Given the description of an element on the screen output the (x, y) to click on. 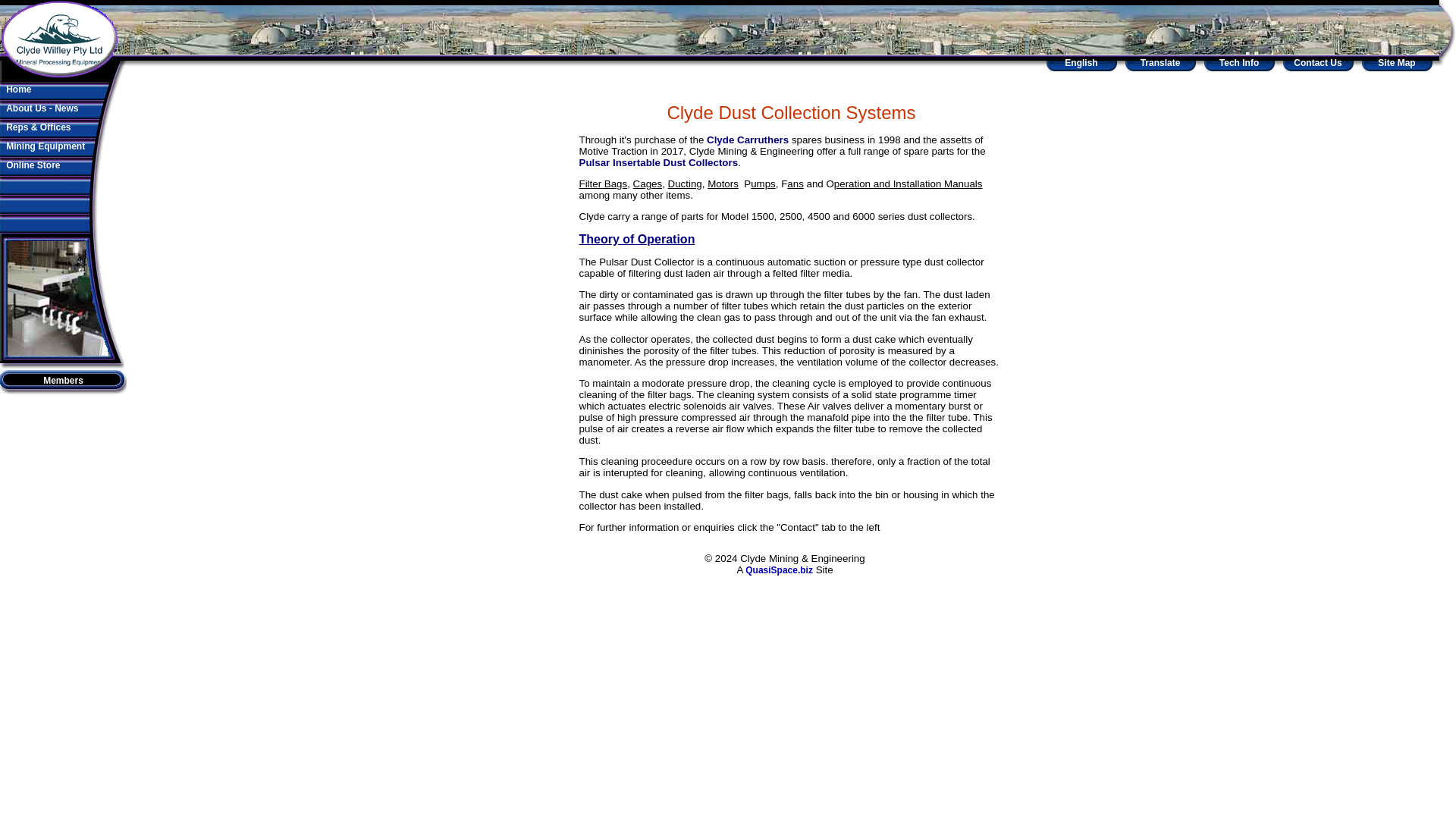
Home (17, 89)
Site Map (1396, 62)
Tech Info (1239, 62)
Members (62, 380)
QuasiSpace.biz (778, 570)
Online Store (32, 164)
Mining Equipment (44, 145)
About Us - News (41, 108)
English (1080, 62)
Translate (1160, 62)
Contact Us (1317, 62)
